Given the description of an element on the screen output the (x, y) to click on. 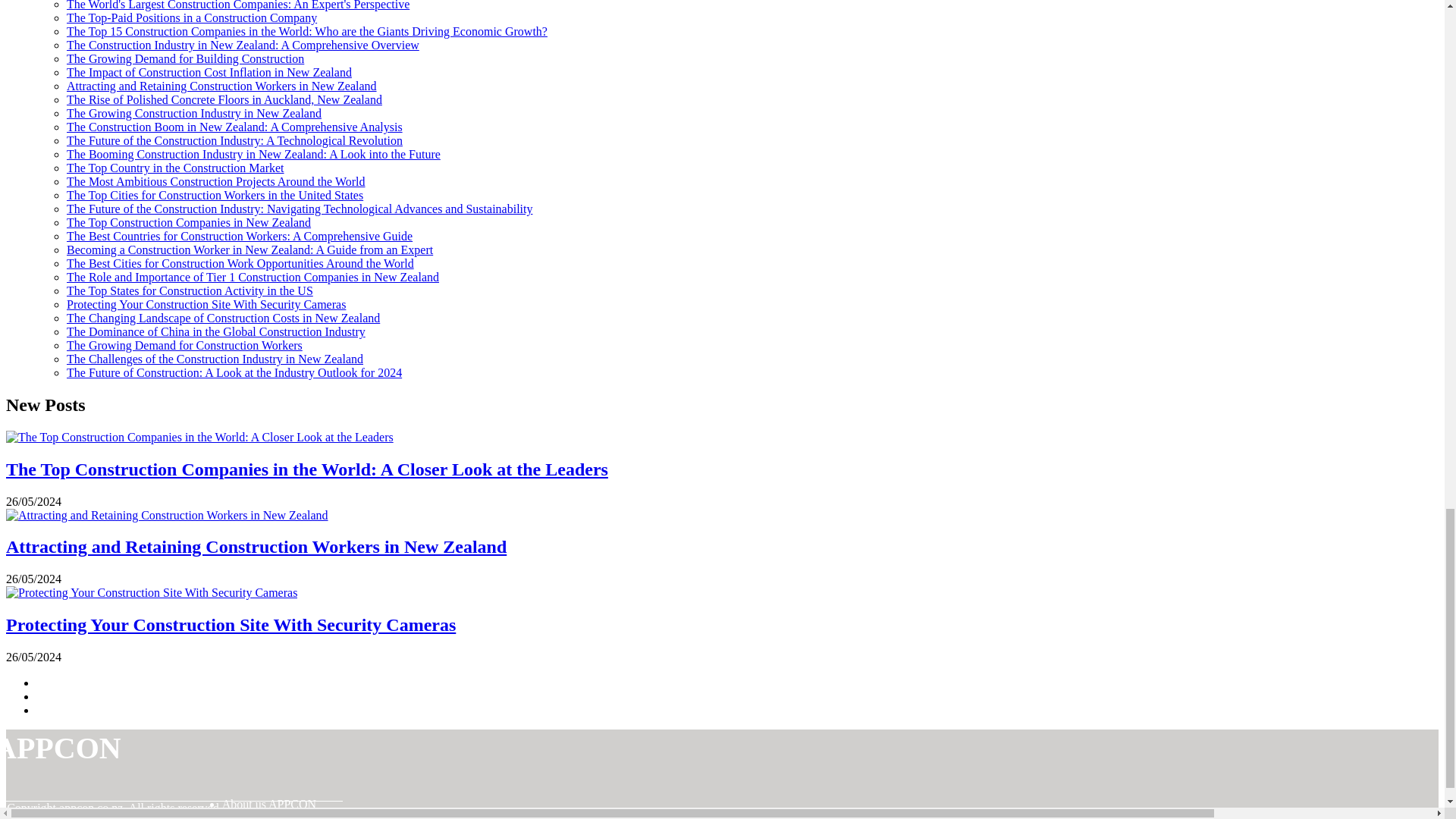
The Impact of Construction Cost Inflation in New Zealand (209, 72)
The Growing Demand for Building Construction (185, 58)
The Top-Paid Positions in a Construction Company (191, 17)
Attracting and Retaining Construction Workers in New Zealand (221, 85)
